Given the description of an element on the screen output the (x, y) to click on. 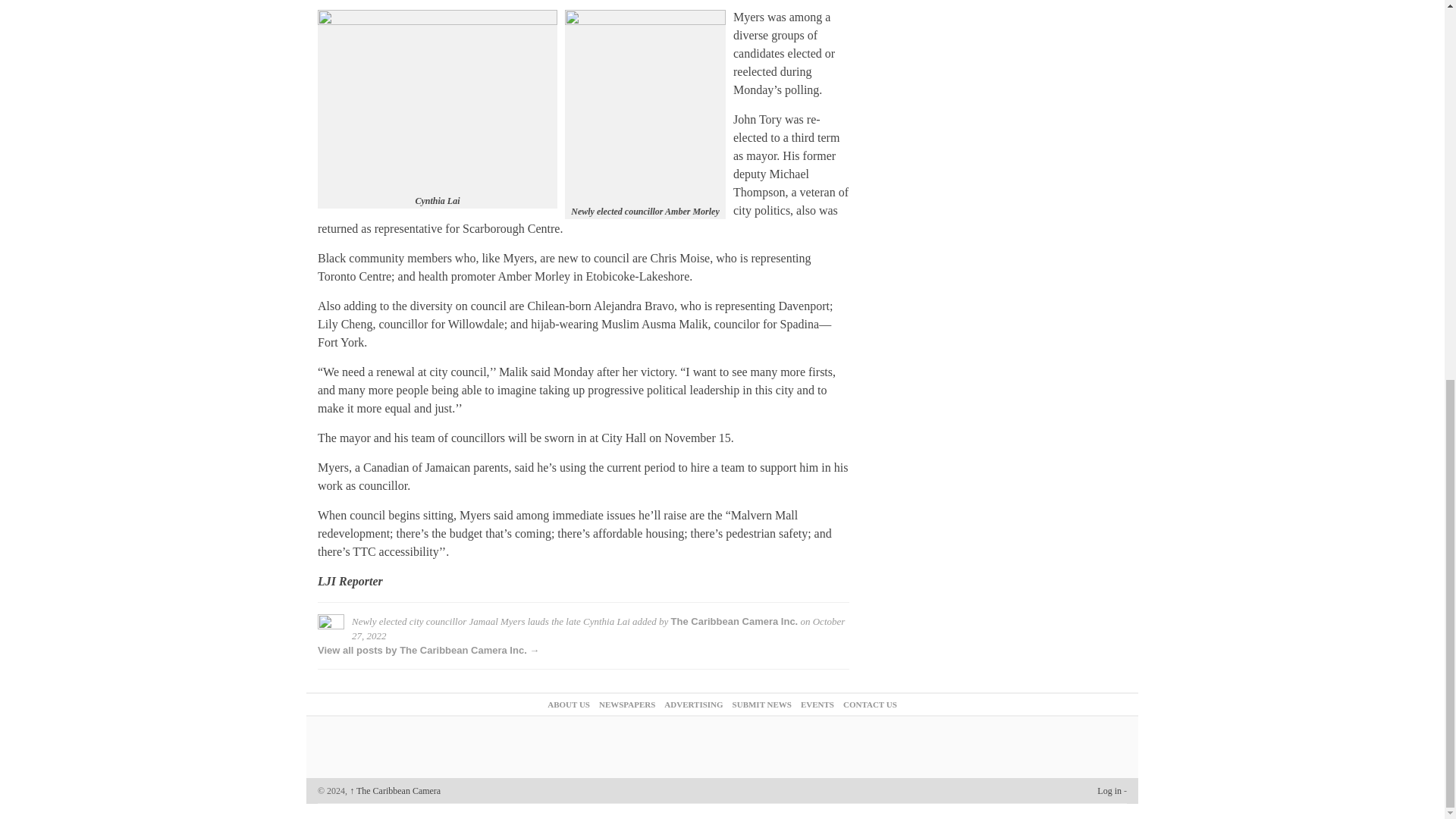
The Caribbean Camera (395, 790)
